Given the description of an element on the screen output the (x, y) to click on. 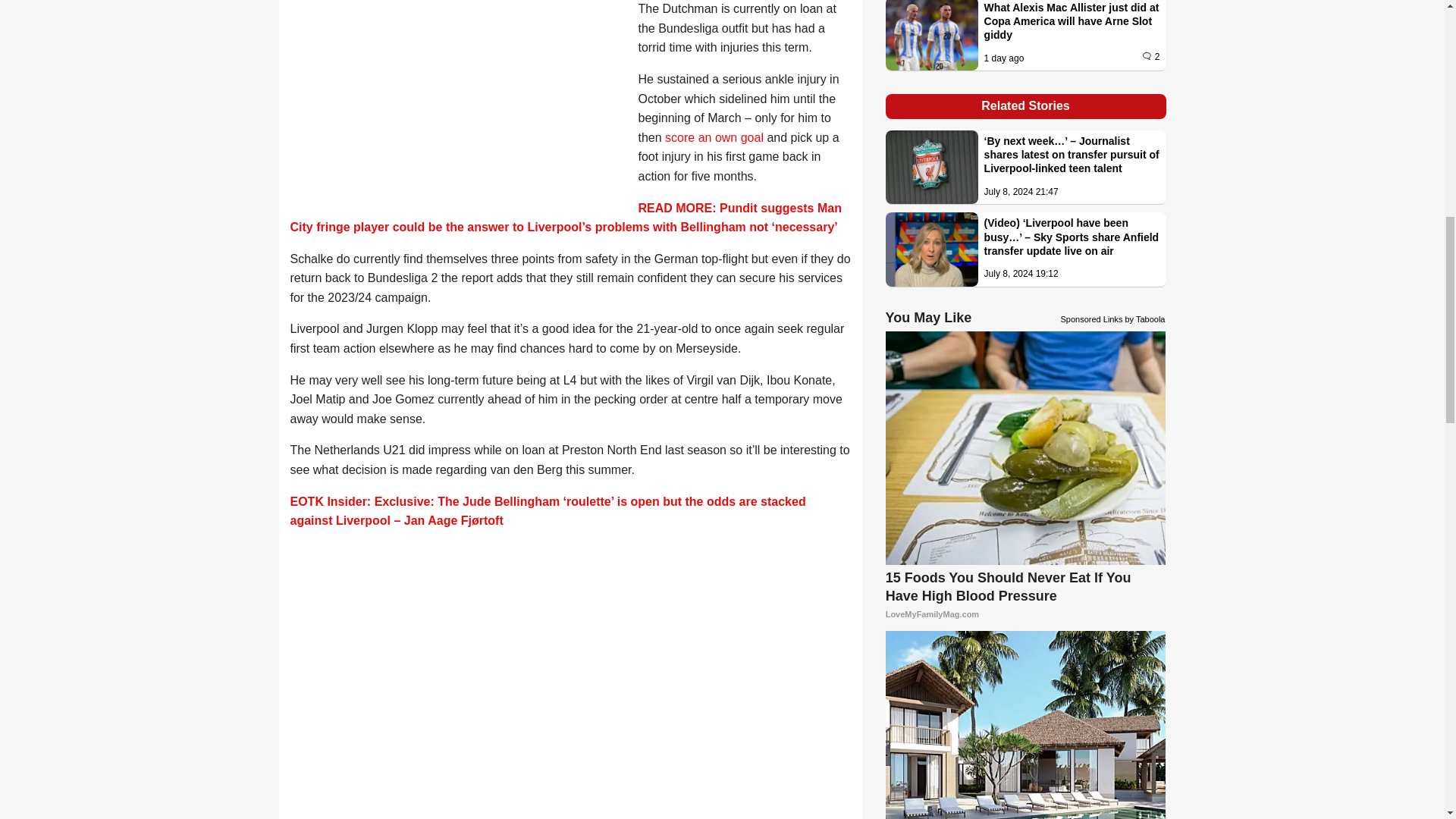
score an own goal (713, 137)
